Given the description of an element on the screen output the (x, y) to click on. 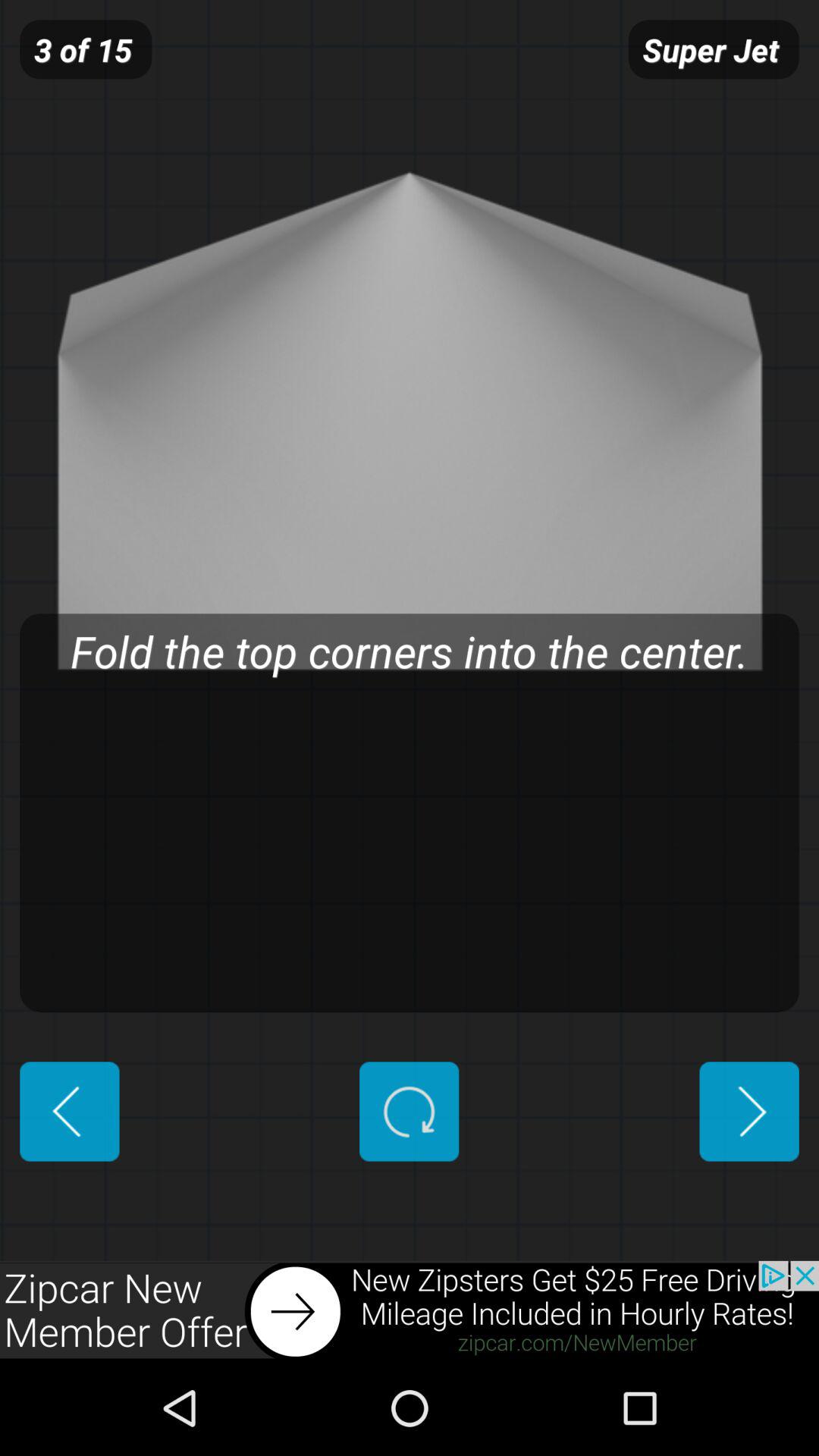
go to previous page (69, 1111)
